Given the description of an element on the screen output the (x, y) to click on. 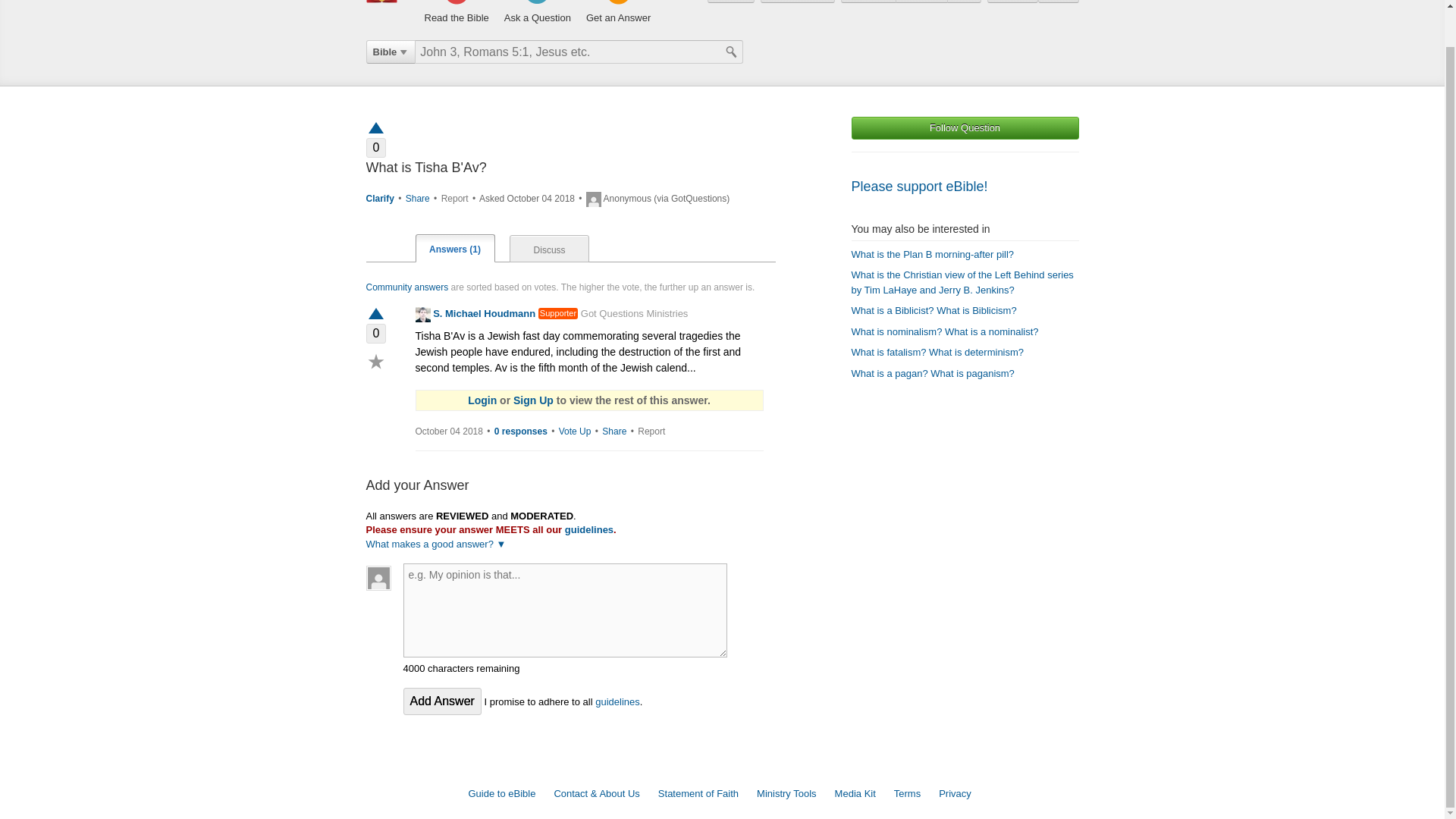
Ask a Question (536, 12)
Get an Answer (618, 12)
Read the Bible (457, 12)
Vote Up (375, 315)
Vote Up (575, 430)
Donate (730, 1)
Add Answer (442, 700)
Books (868, 1)
Questions (797, 1)
Vote Question Up (375, 127)
